Given the description of an element on the screen output the (x, y) to click on. 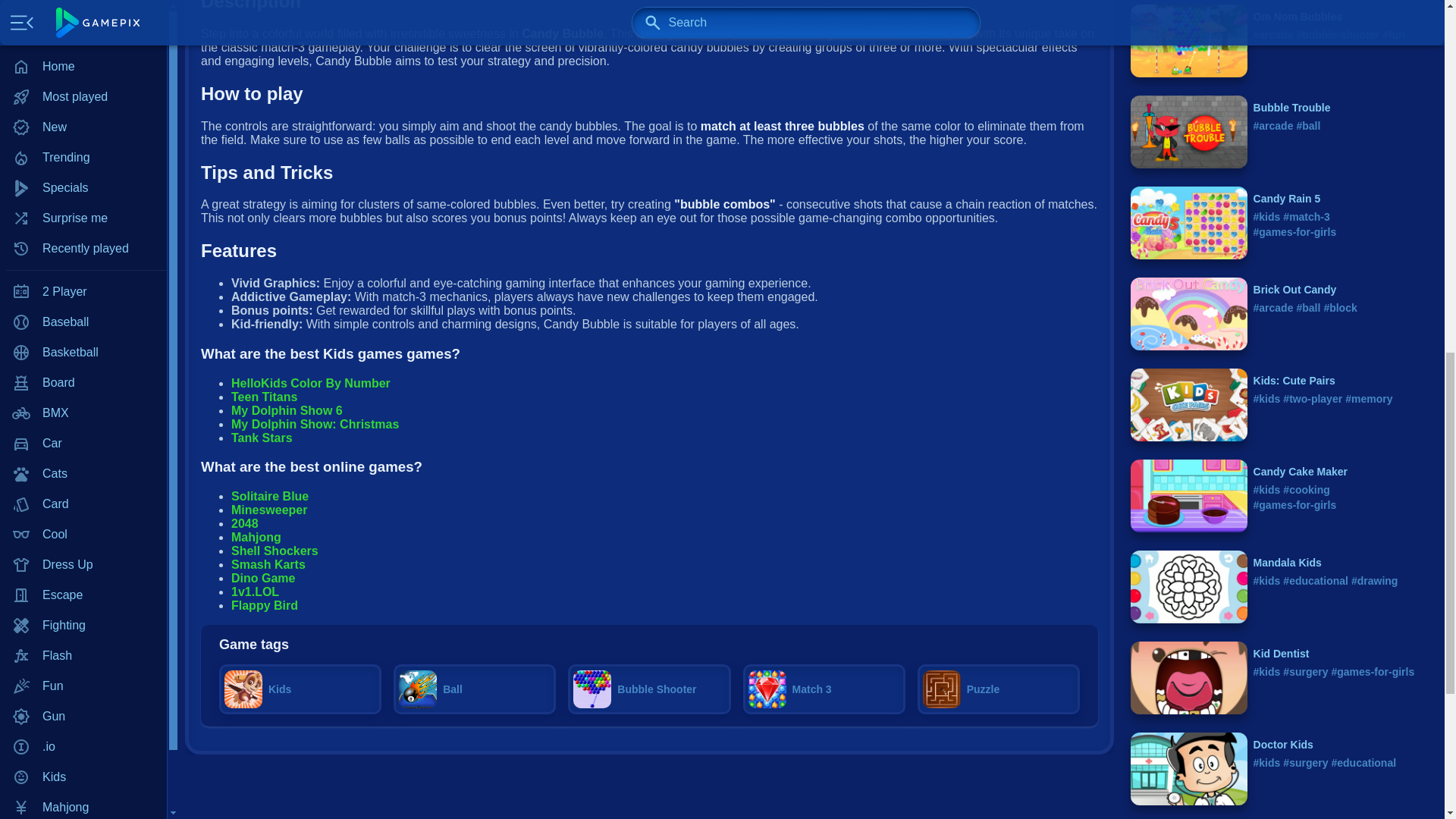
Puzzle (83, 110)
Soccer (83, 291)
Word (83, 352)
War (83, 322)
Racing (83, 140)
Math (83, 49)
RPG (83, 170)
Mario (83, 19)
Mahjong (83, 2)
Solitaire (83, 231)
Snake (83, 261)
Poker (83, 79)
Shooter (83, 200)
Zombie (83, 382)
